Given the description of an element on the screen output the (x, y) to click on. 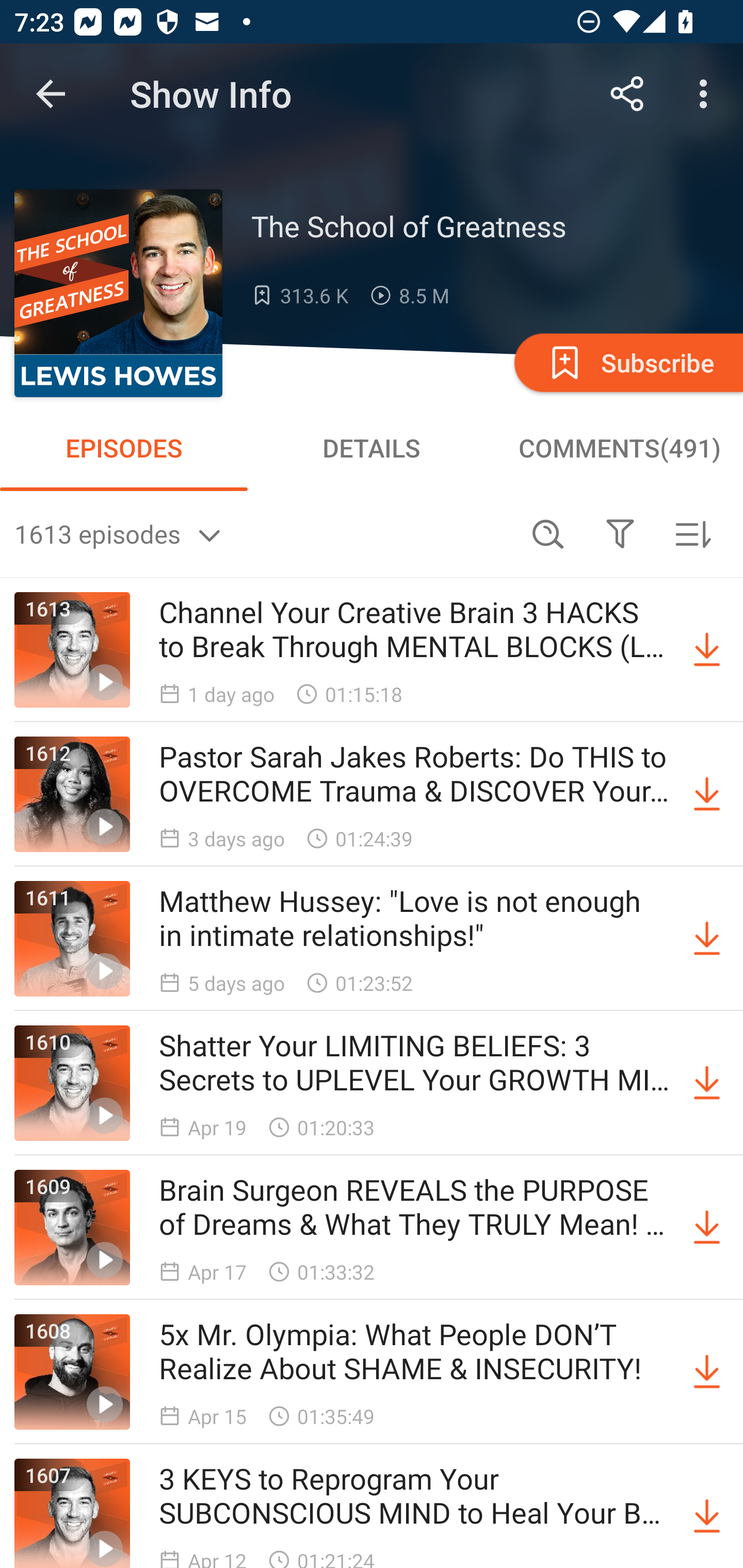
Navigate up (50, 93)
Share (626, 93)
More options (706, 93)
Subscribe (627, 361)
EPISODES (123, 447)
DETAILS (371, 447)
COMMENTS(491) (619, 447)
1613 episodes  (262, 533)
 Search (547, 533)
 (619, 533)
 Sorted by newest first (692, 533)
Download (706, 649)
Download (706, 793)
Download (706, 939)
Download (706, 1083)
Download (706, 1227)
Download (706, 1371)
Download (706, 1513)
